Given the description of an element on the screen output the (x, y) to click on. 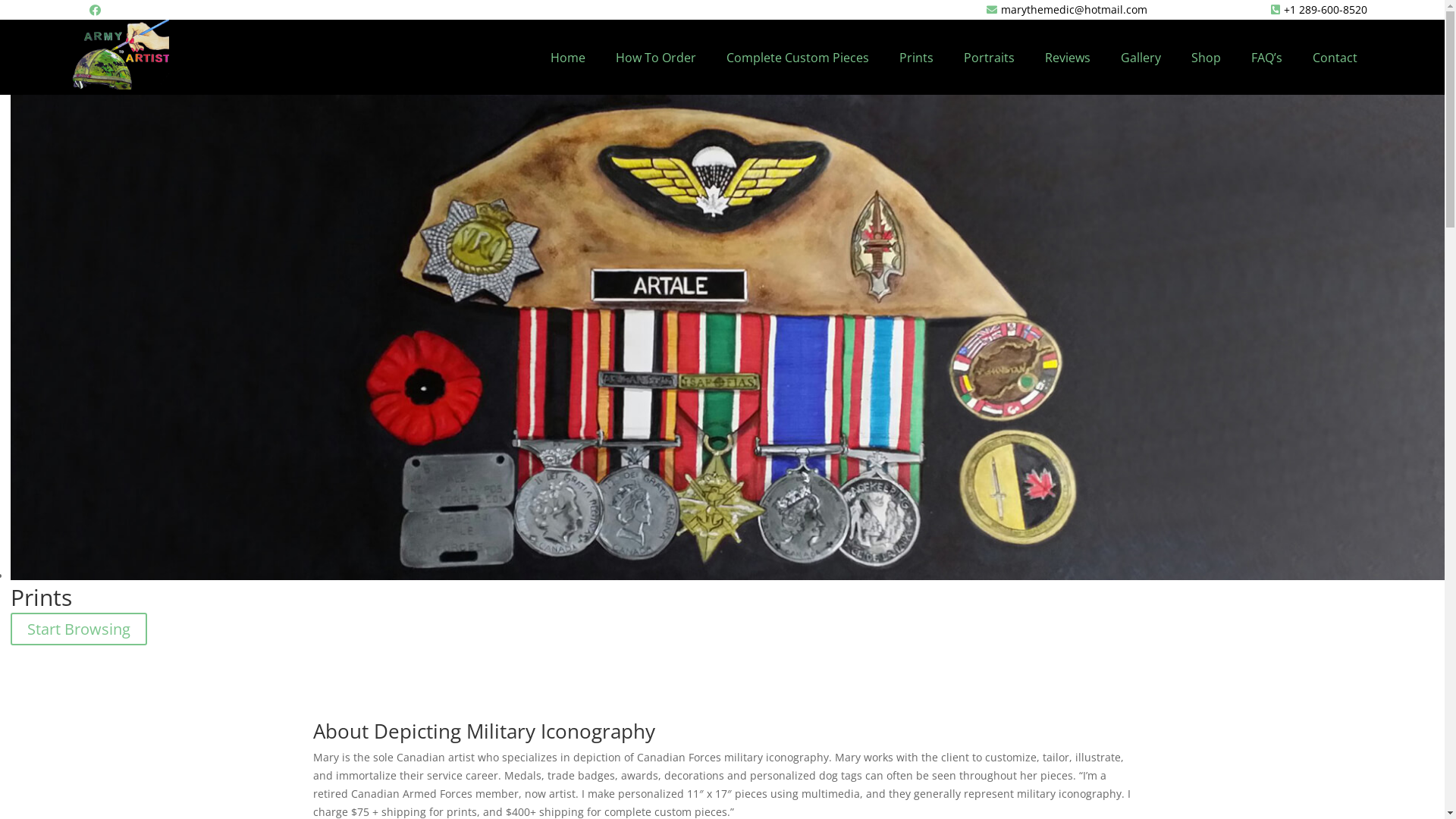
Complete Custom Pieces Element type: text (797, 57)
06 Element type: hover (727, 337)
Portraits Element type: text (988, 57)
Shop Element type: text (1206, 57)
Gallery Element type: text (1140, 57)
Contact Element type: text (1334, 57)
Prints Element type: text (916, 57)
marythemedic@hotmail.com Element type: text (826, 9)
+1 289-600-8520 Element type: text (1257, 9)
How To Order Element type: text (655, 57)
Start Browsing Element type: text (78, 628)
Reviews Element type: text (1067, 57)
Home Element type: text (567, 57)
